Given the description of an element on the screen output the (x, y) to click on. 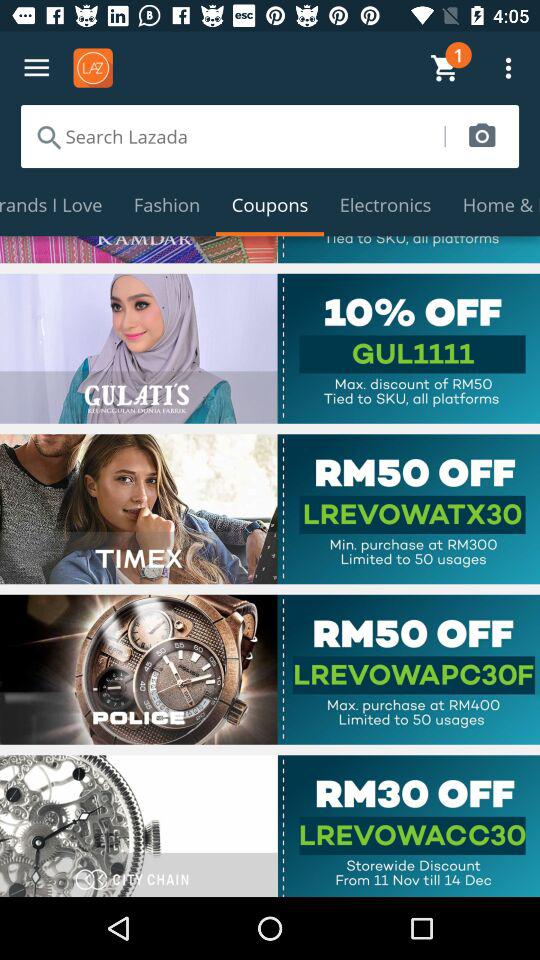
tap icon above brands i love (232, 136)
